Given the description of an element on the screen output the (x, y) to click on. 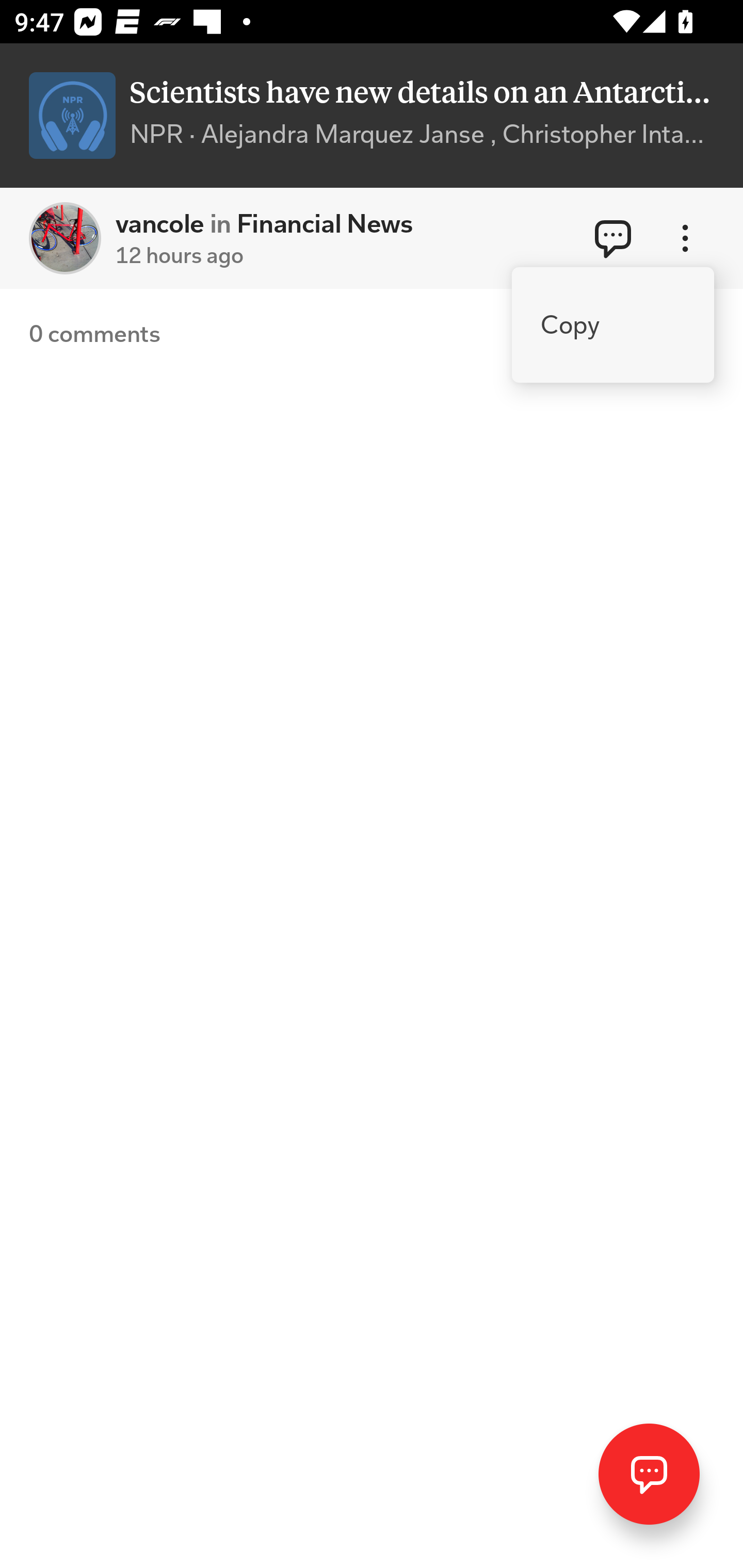
Copy (612, 325)
